Given the description of an element on the screen output the (x, y) to click on. 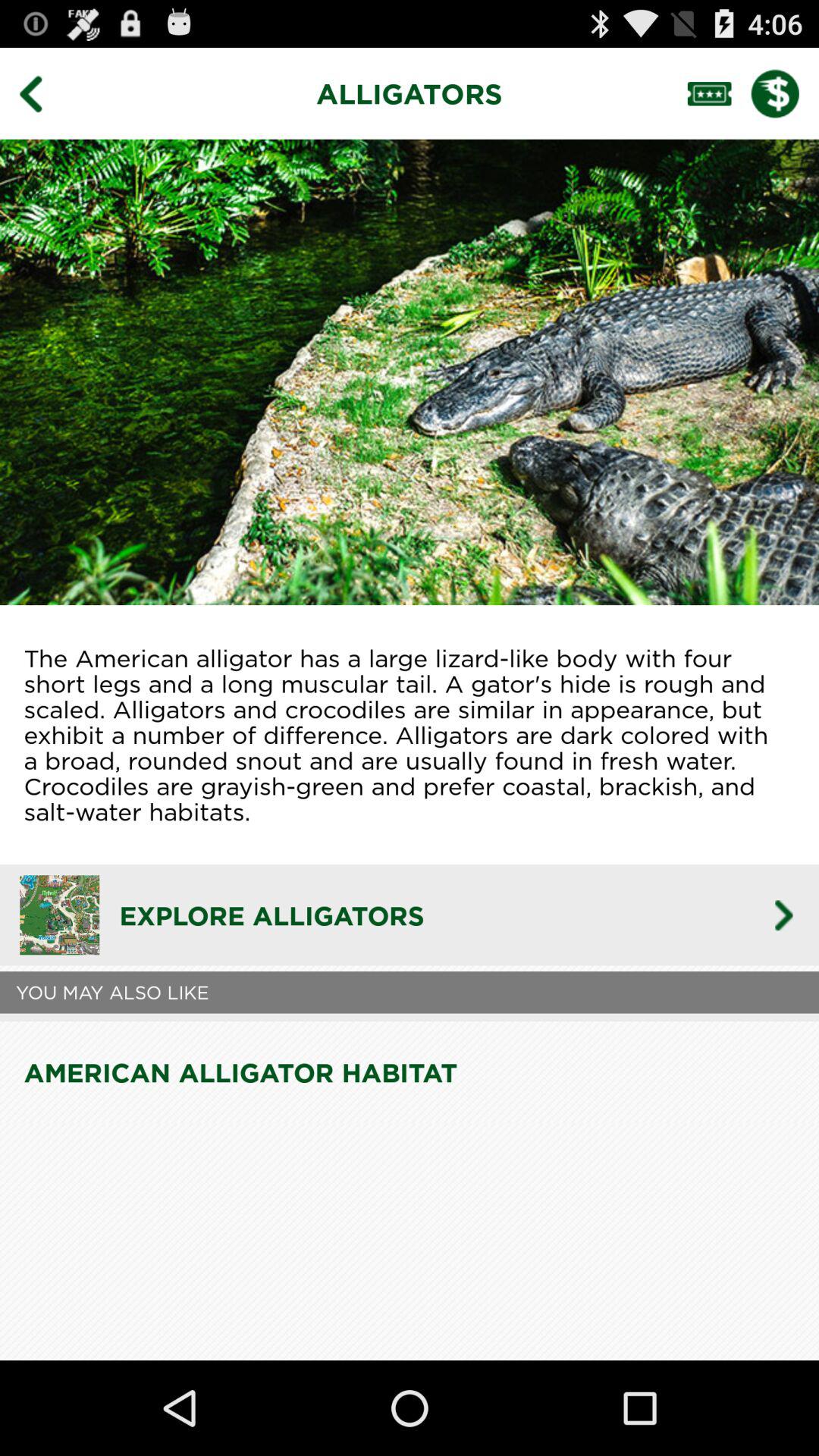
go back (41, 93)
